Given the description of an element on the screen output the (x, y) to click on. 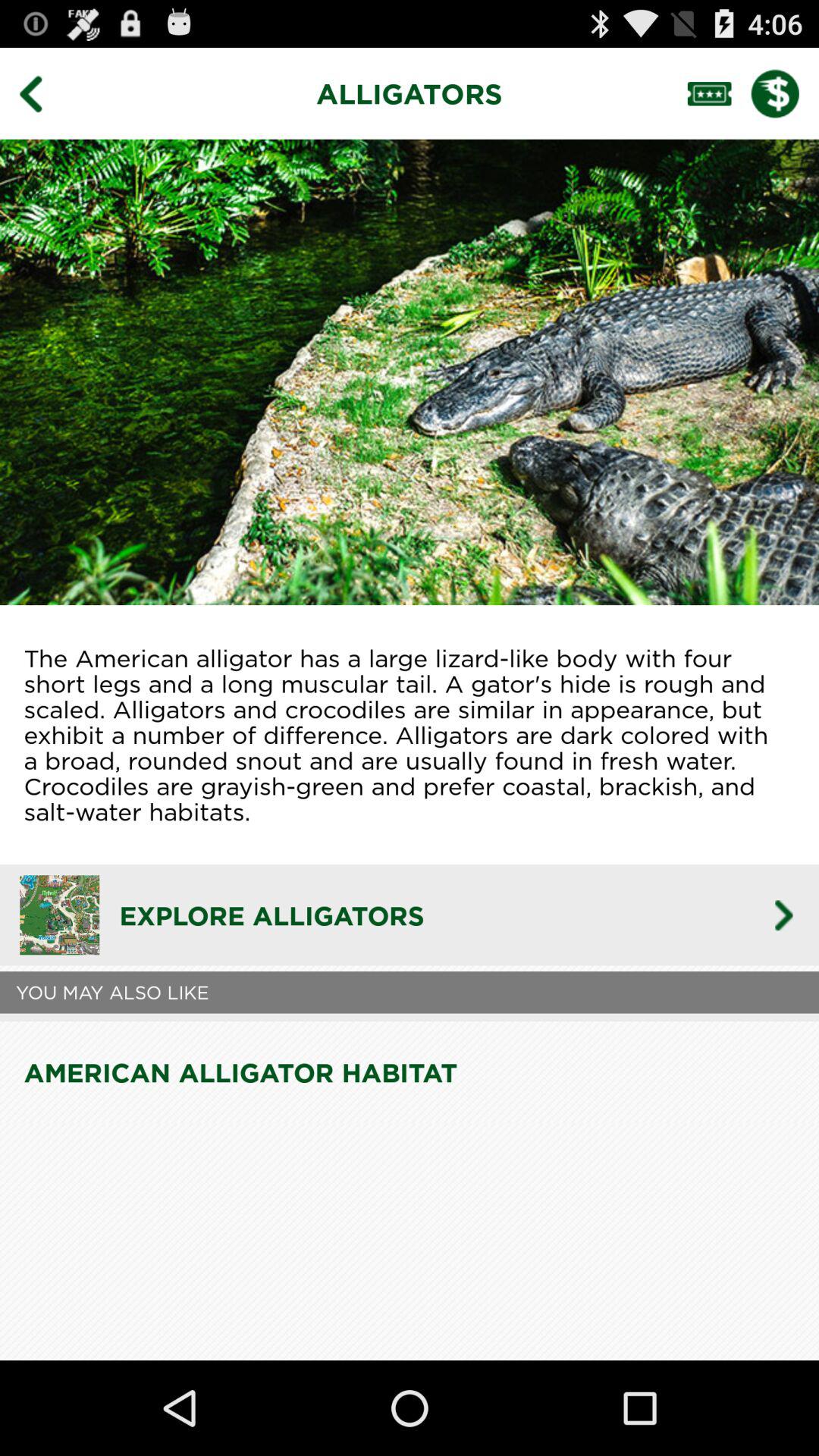
go back (41, 93)
